Given the description of an element on the screen output the (x, y) to click on. 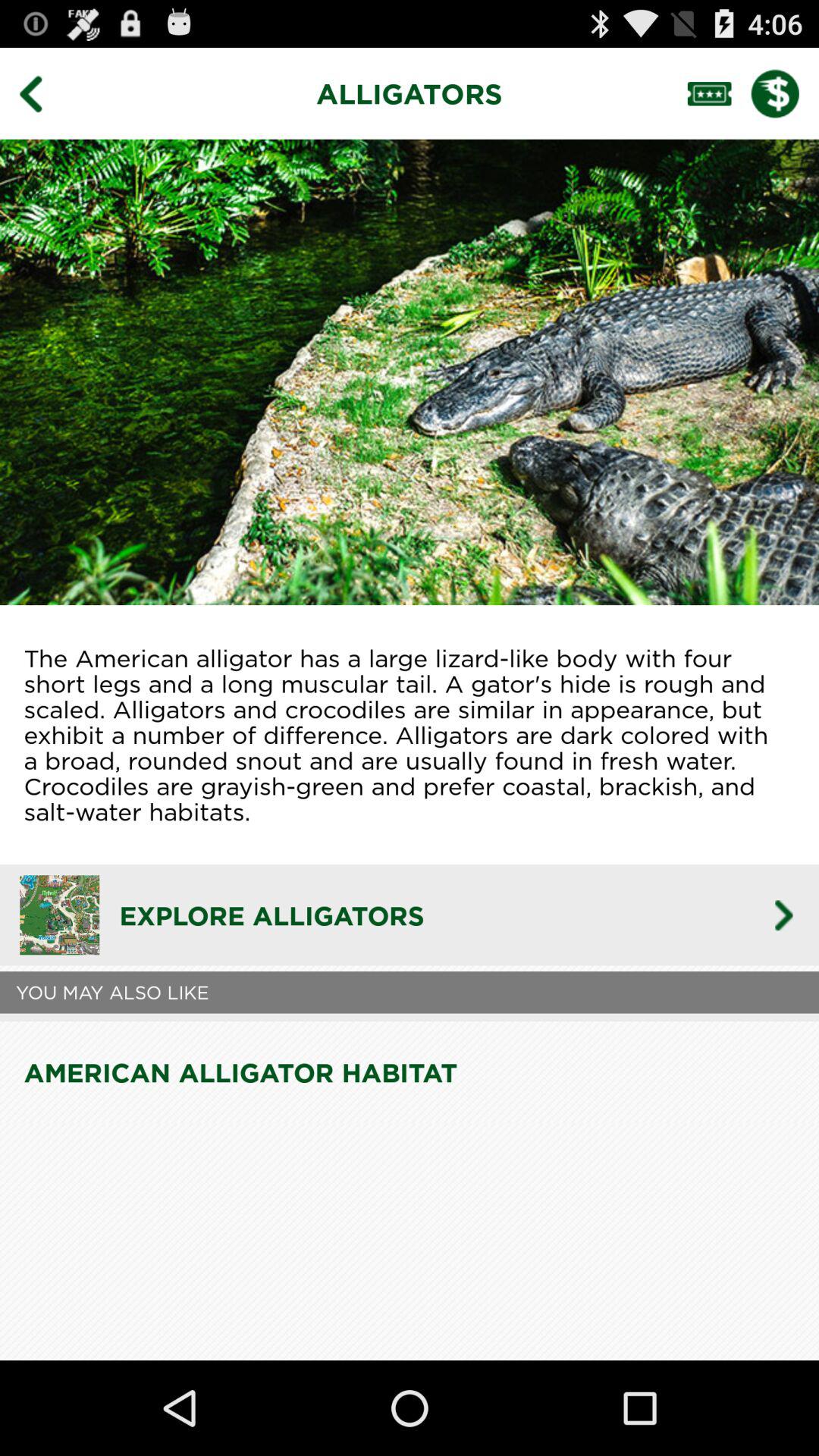
go back (41, 93)
